Given the description of an element on the screen output the (x, y) to click on. 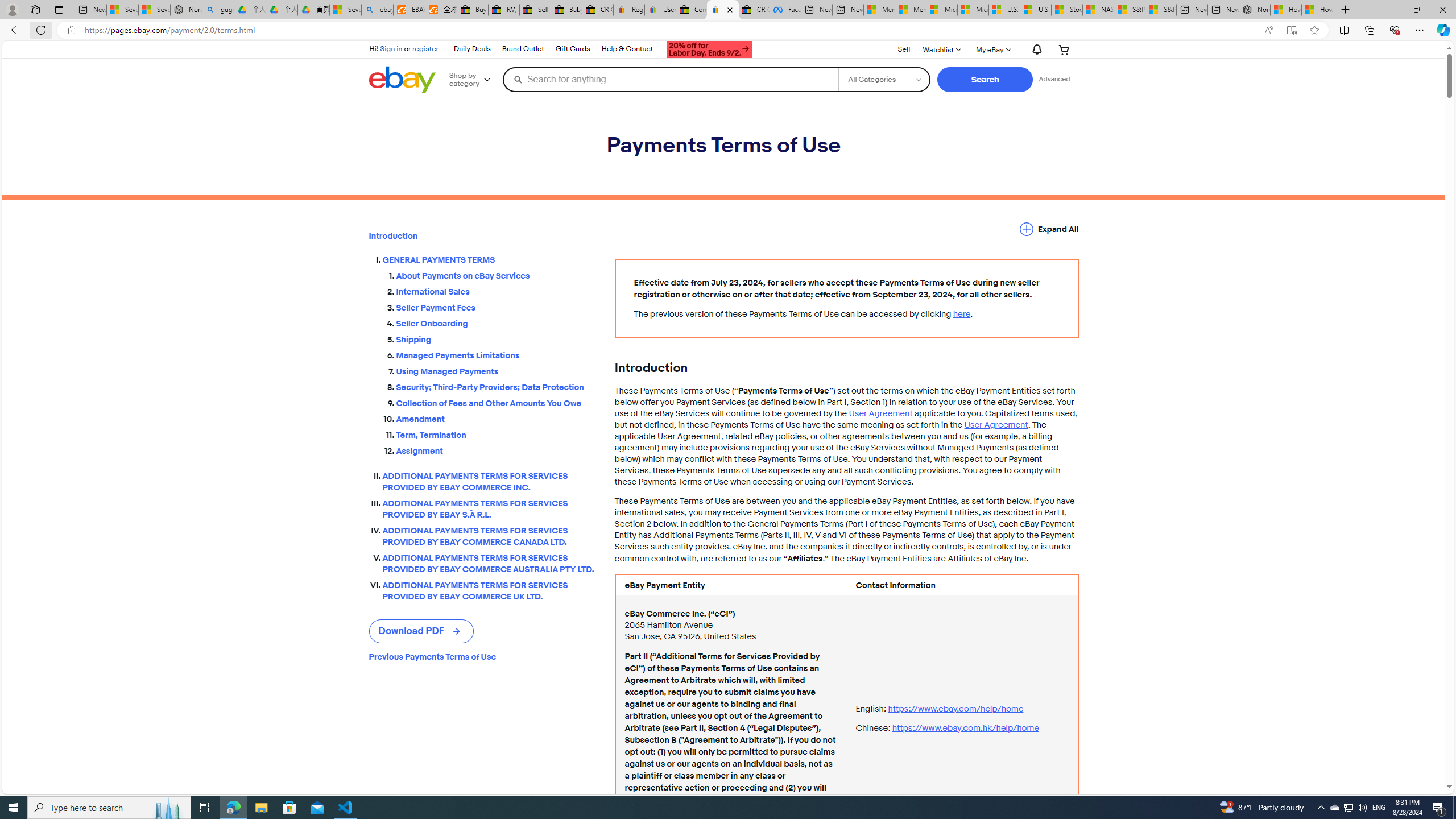
Term, Termination (496, 433)
Sign in (391, 48)
My eBay (992, 49)
WatchlistExpand Watch List (940, 49)
International Sales (496, 289)
Baby Keepsakes & Announcements for sale | eBay (566, 9)
Sell worldwide with eBay (535, 9)
Your shopping cart (1064, 49)
